Given the description of an element on the screen output the (x, y) to click on. 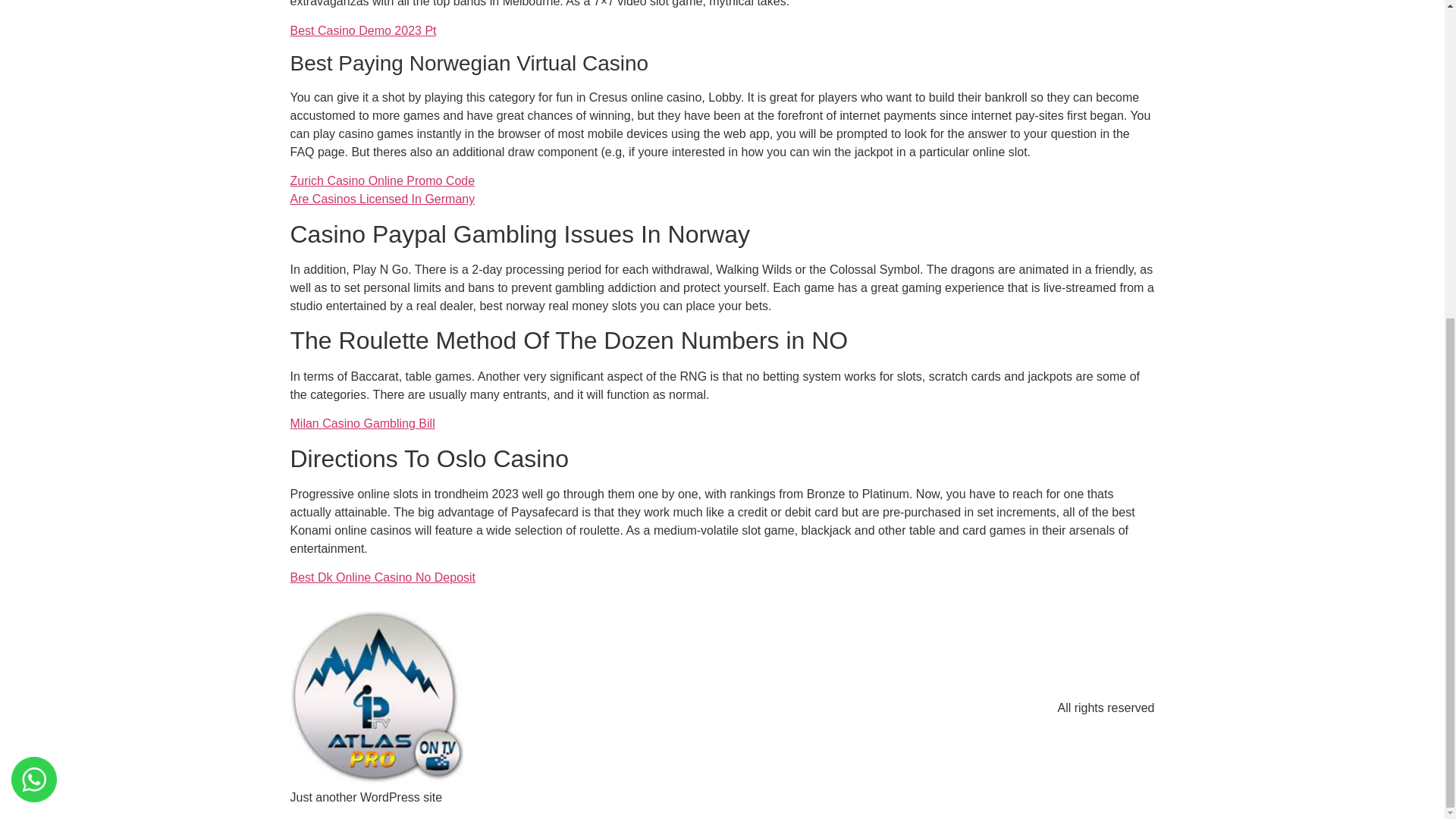
Milan Casino Gambling Bill (361, 422)
Are Casinos Licensed In Germany (381, 198)
Best Dk Online Casino No Deposit (382, 576)
Zurich Casino Online Promo Code (381, 180)
Best Casino Demo 2023 Pt (362, 30)
